Given the description of an element on the screen output the (x, y) to click on. 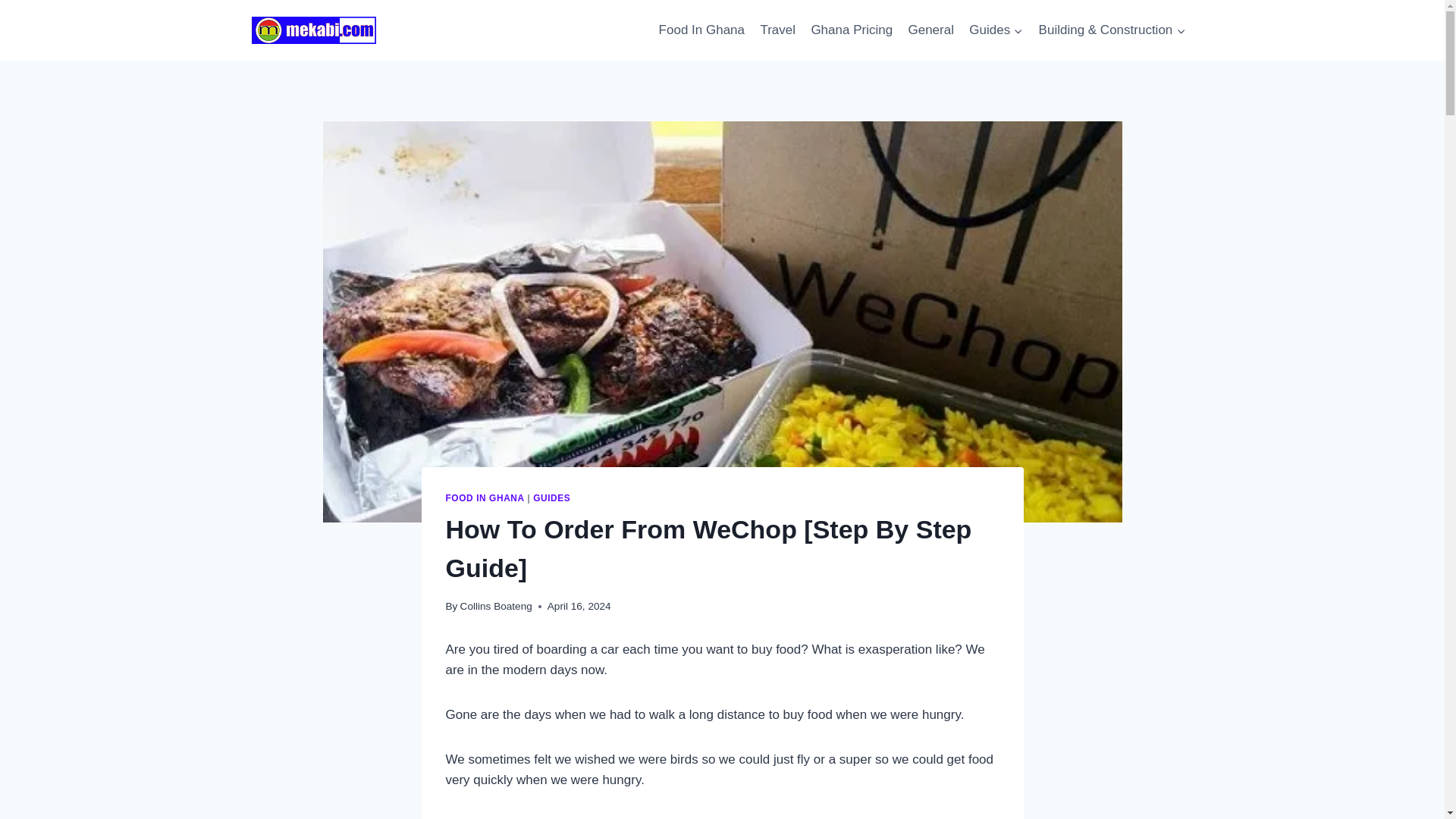
Ghana Pricing (851, 30)
General (929, 30)
Collins Boateng (496, 605)
Guides (995, 30)
FOOD IN GHANA (484, 498)
Food In Ghana (701, 30)
Travel (777, 30)
GUIDES (551, 498)
